Given the description of an element on the screen output the (x, y) to click on. 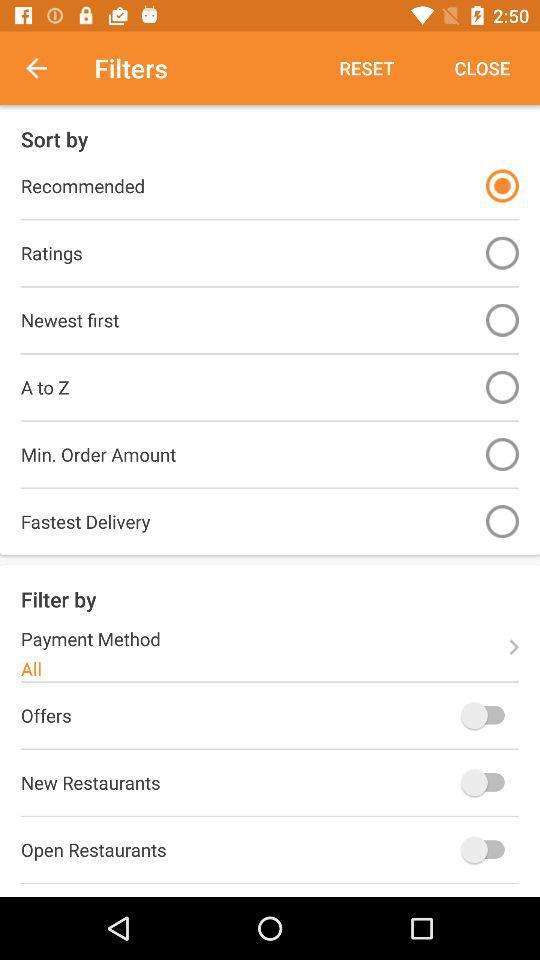
open the icon next to fastest delivery icon (502, 521)
